Given the description of an element on the screen output the (x, y) to click on. 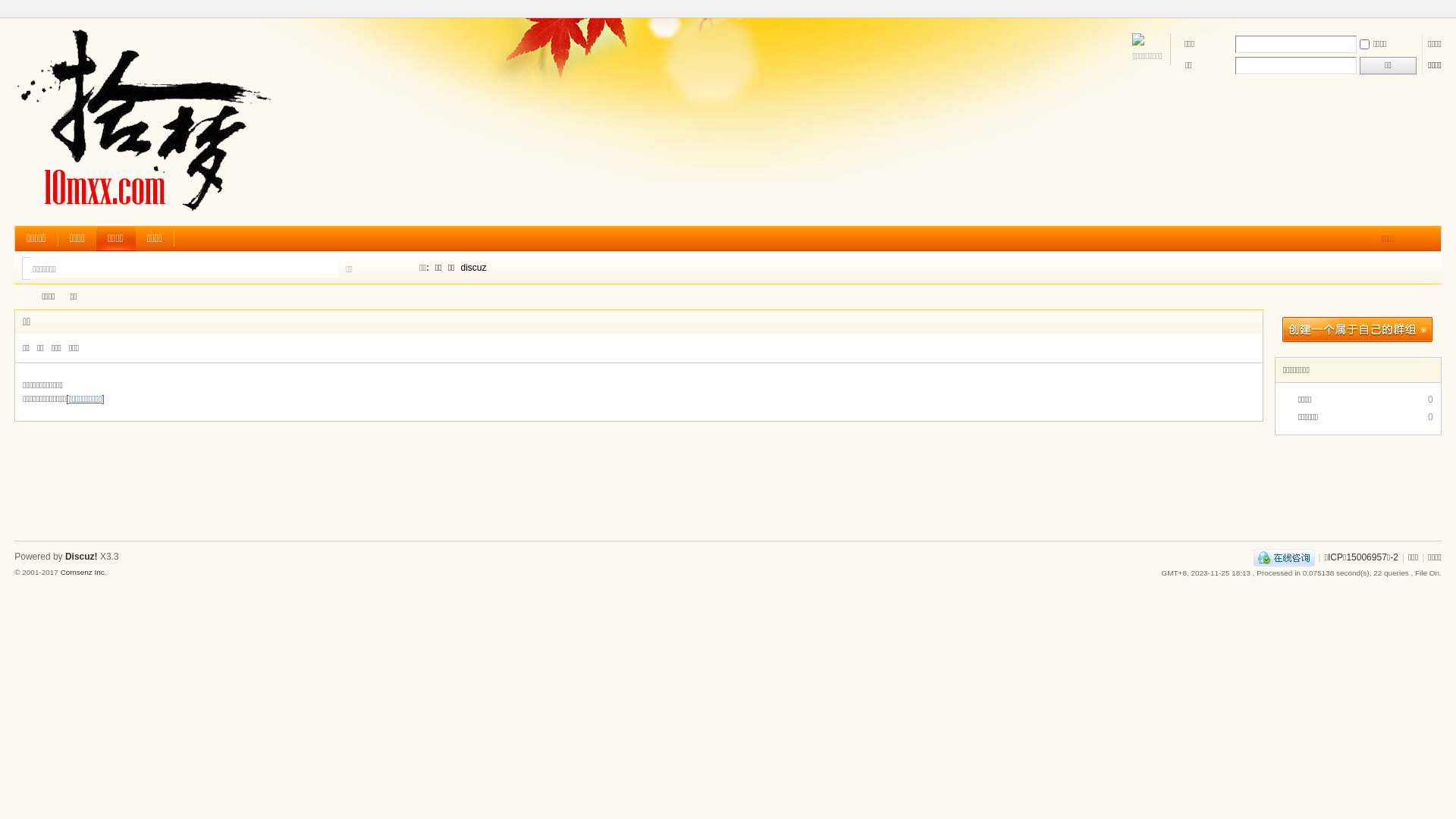
Discuz! Element type: text (81, 556)
true Element type: text (395, 268)
discuz Element type: text (473, 267)
Comsenz Inc. Element type: text (83, 571)
QQ Element type: hover (1283, 557)
